Given the description of an element on the screen output the (x, y) to click on. 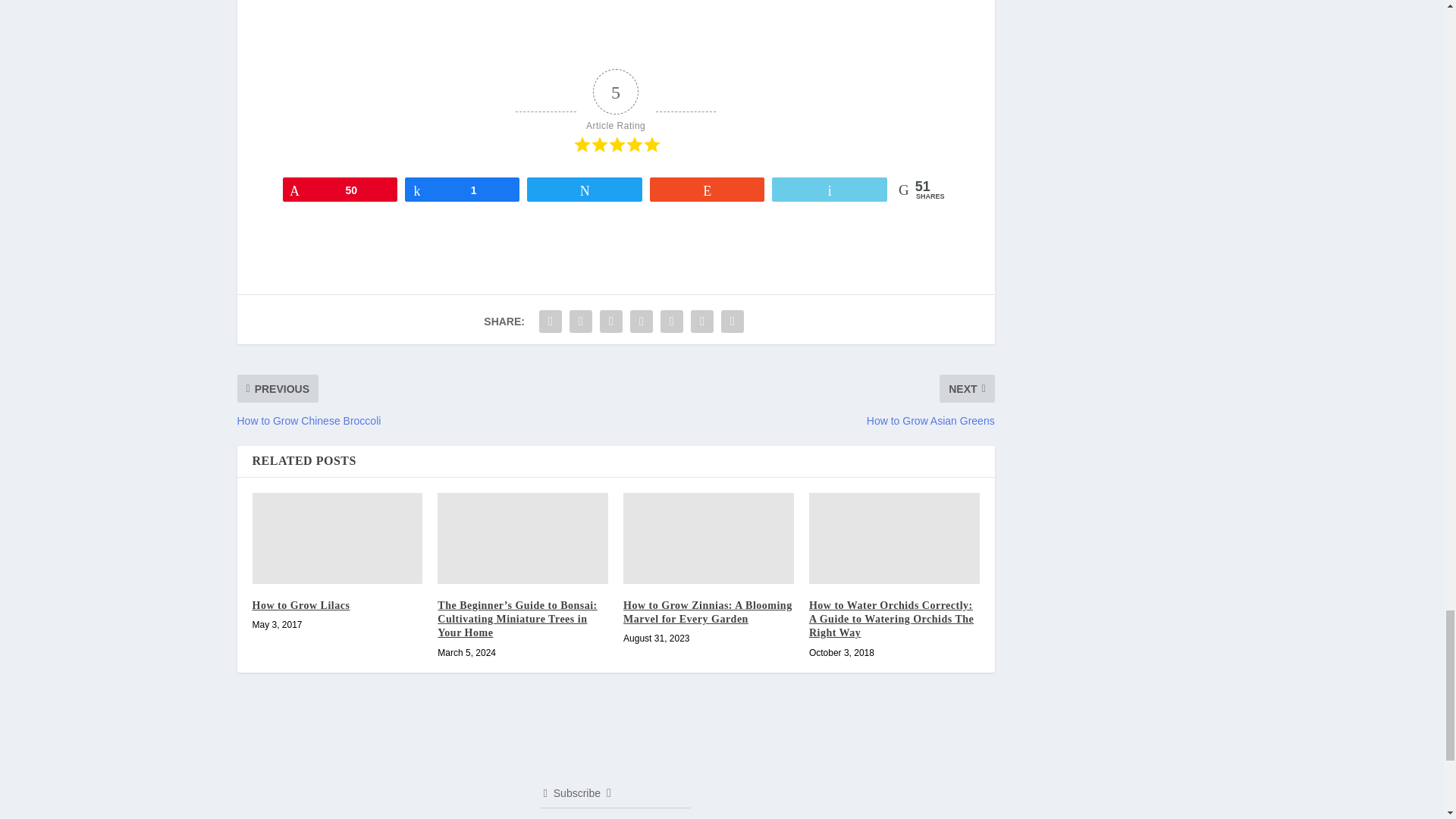
Share "How to Grow Tulips From Bulbs" via Email (702, 321)
How to Grow Tulips (411, 23)
50 (339, 189)
Share "How to Grow Tulips From Bulbs" via Print (732, 321)
Share "How to Grow Tulips From Bulbs" via Twitter (580, 321)
Share "How to Grow Tulips From Bulbs" via Facebook (550, 321)
1 (462, 189)
How to Grow Lilacs (336, 538)
Share "How to Grow Tulips From Bulbs" via Stumbleupon (671, 321)
Share "How to Grow Tulips From Bulbs" via Pinterest (641, 321)
How to Grow Zinnias: A Blooming Marvel for Every Garden (708, 538)
